Given the description of an element on the screen output the (x, y) to click on. 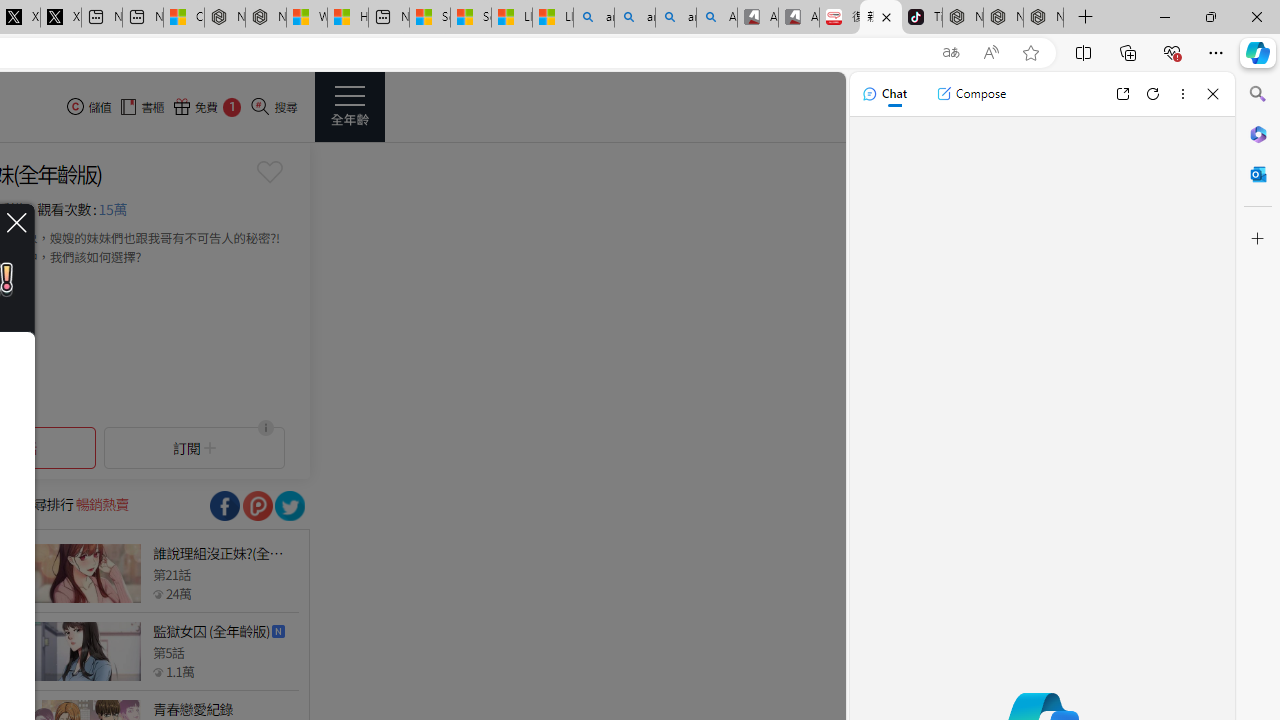
Nordace - Best Sellers (963, 17)
TikTok (922, 17)
Chat (884, 93)
Class: epicon_starpoint (158, 671)
